Given the description of an element on the screen output the (x, y) to click on. 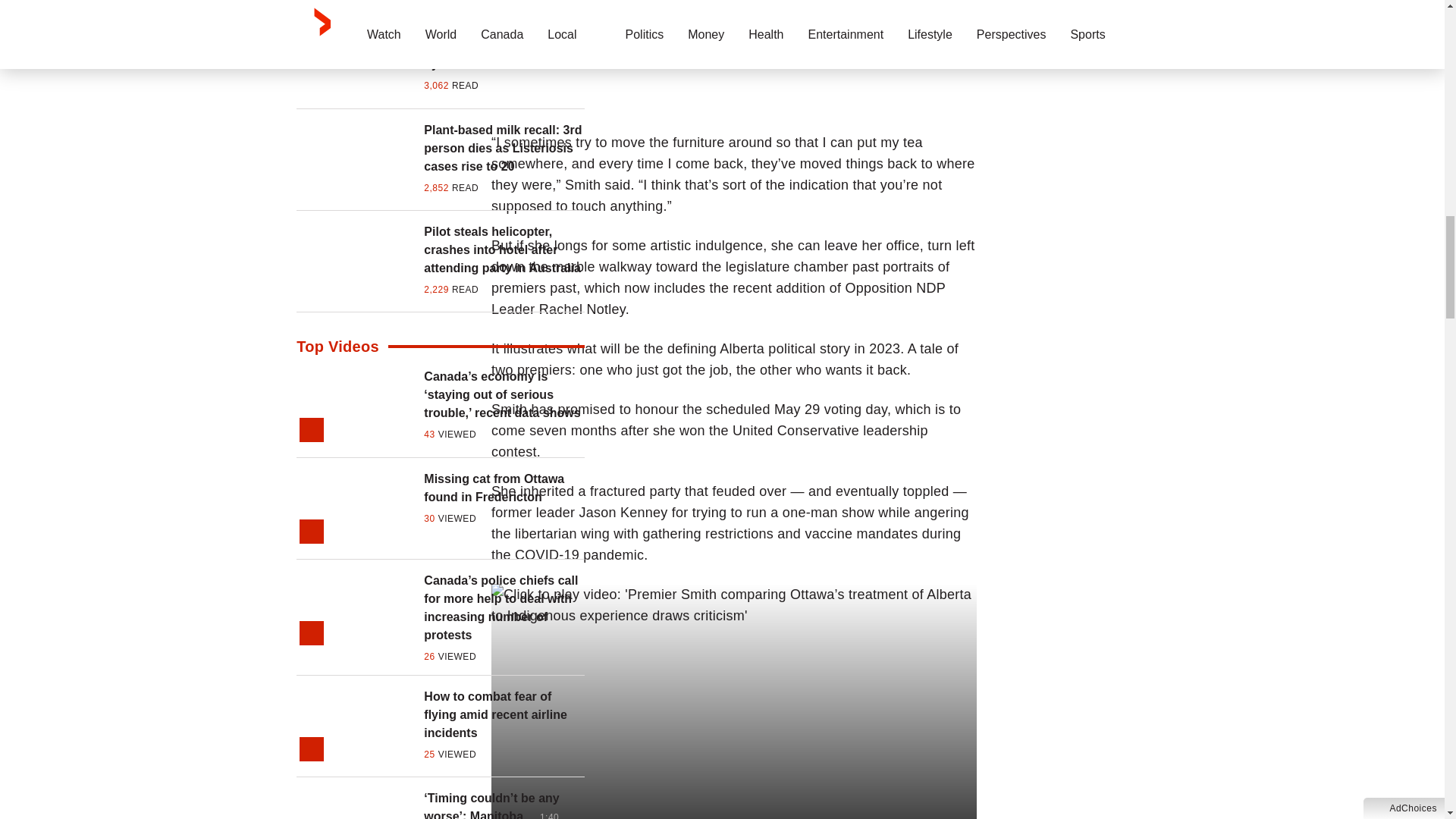
How to combat fear of flying amid recent airline incidents (504, 714)
Missing cat from Ottawa found in Fredericton (504, 488)
